Given the description of an element on the screen output the (x, y) to click on. 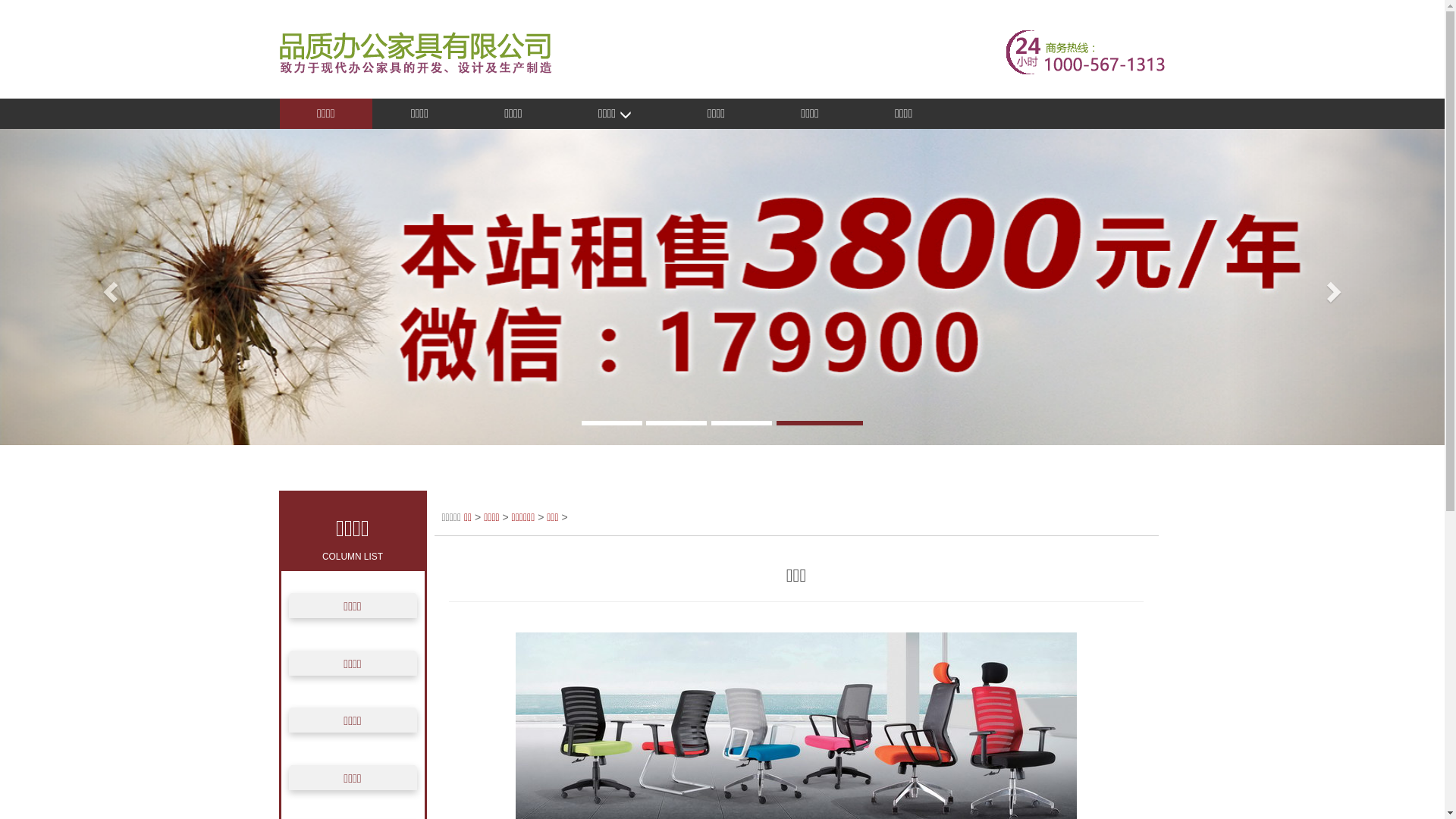
Next Element type: text (1335, 286)
Previous Element type: text (108, 286)
